Given the description of an element on the screen output the (x, y) to click on. 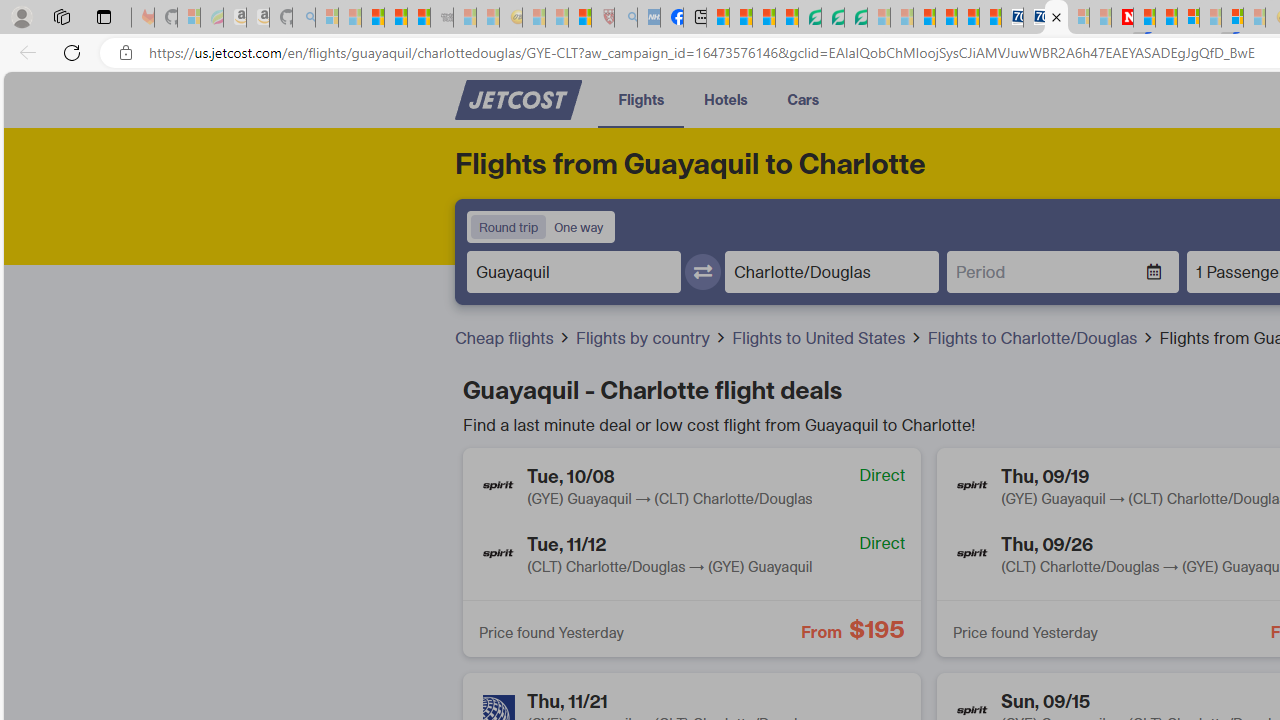
Flights by country (651, 337)
Workspaces (61, 16)
Flights to Charlotte/Douglas (1040, 337)
View site information (125, 53)
Cheap Car Rentals - Save70.com (1012, 17)
MSNBC - MSN (717, 17)
Local - MSN (580, 17)
Latest Politics News & Archive | Newsweek.com (1122, 17)
Flights by country (644, 337)
